Given the description of an element on the screen output the (x, y) to click on. 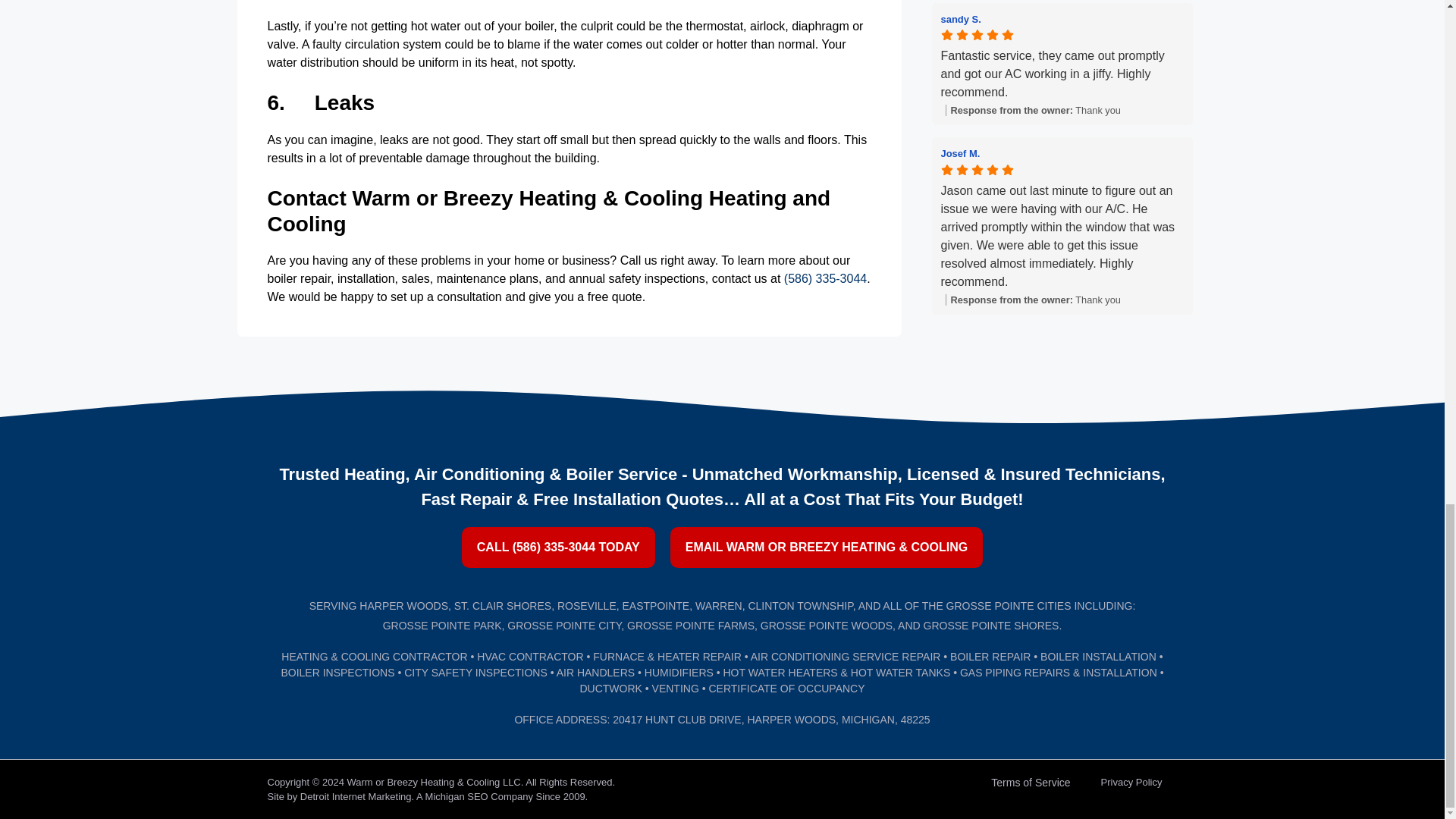
Privacy Policy (1131, 787)
Josef M. (1061, 152)
Response from the owner: Thank you (1063, 299)
sandy S. (959, 19)
Josef M. (959, 153)
Copyright (287, 781)
Terms of Service (1029, 788)
sandy S. (1061, 18)
Response from the owner: Thank you (1063, 110)
Detroit Internet Marketing (355, 796)
